Given the description of an element on the screen output the (x, y) to click on. 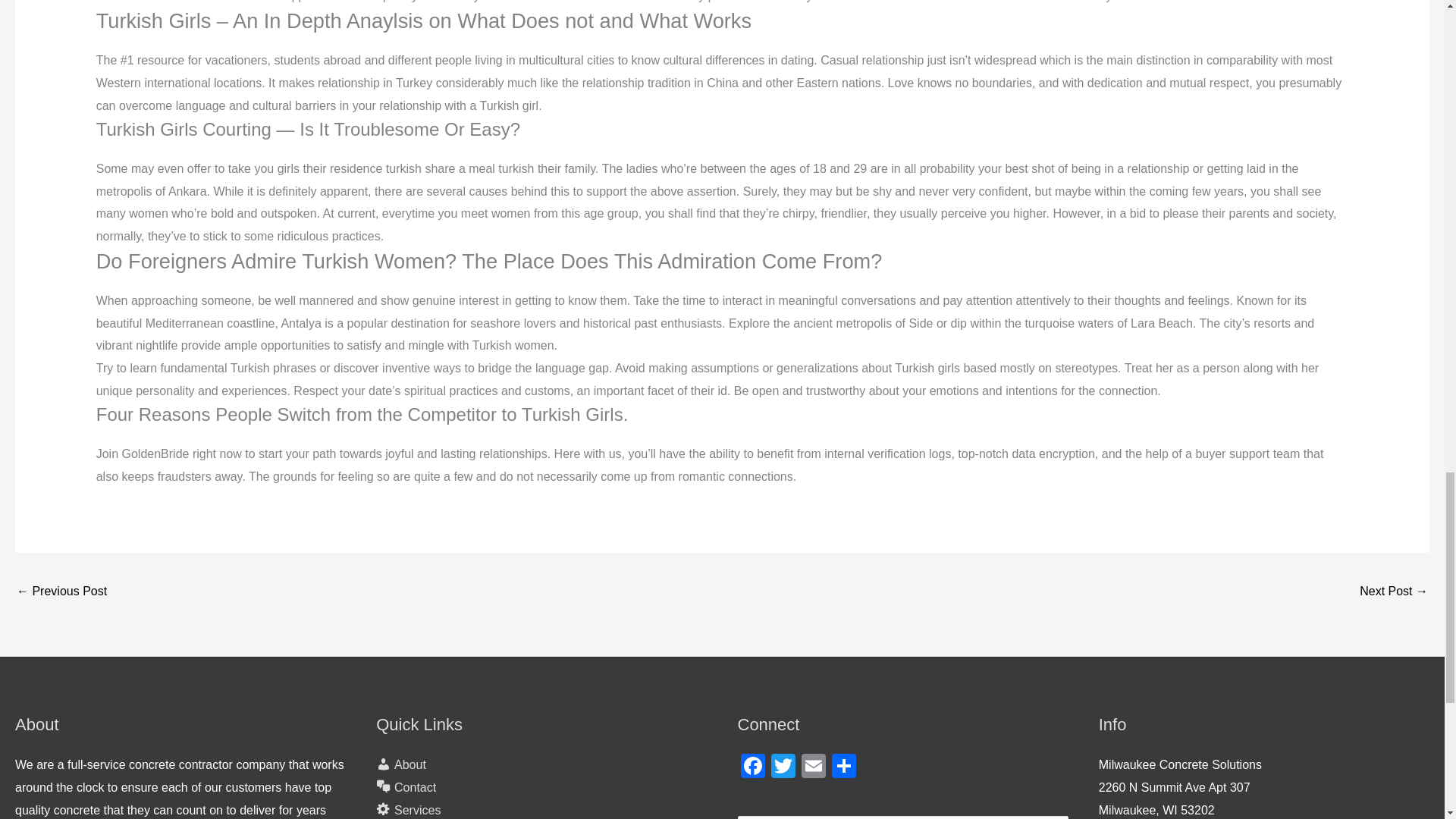
Services (408, 809)
Contact (405, 787)
Twitter (782, 767)
Email (812, 767)
Facebook (751, 767)
Search (1050, 817)
Search (1050, 817)
Facebook (751, 767)
Twitter (782, 767)
Search (1050, 817)
